Given the description of an element on the screen output the (x, y) to click on. 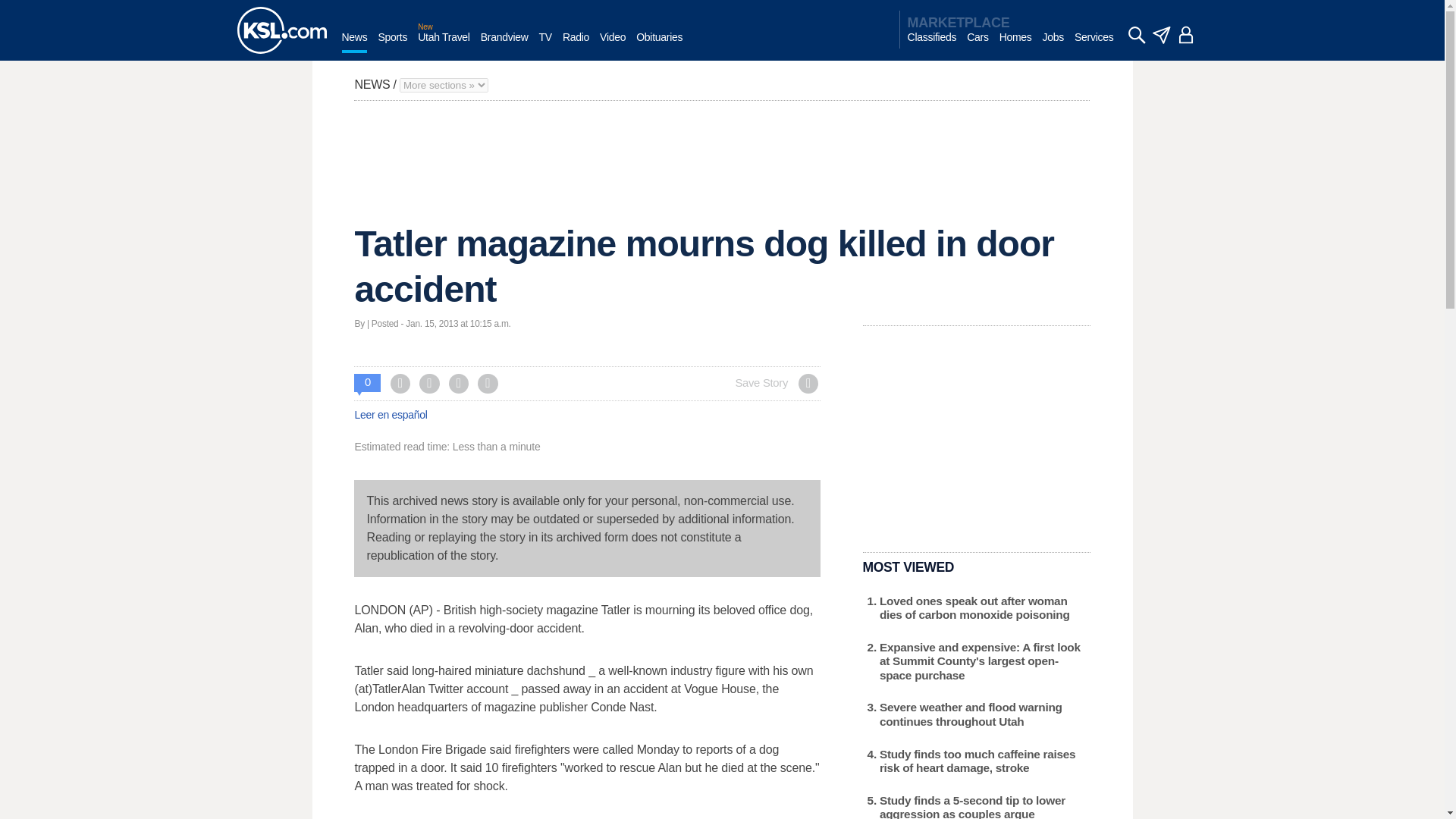
KSL homepage (280, 29)
search (1135, 34)
account - logged out (1185, 34)
